Given the description of an element on the screen output the (x, y) to click on. 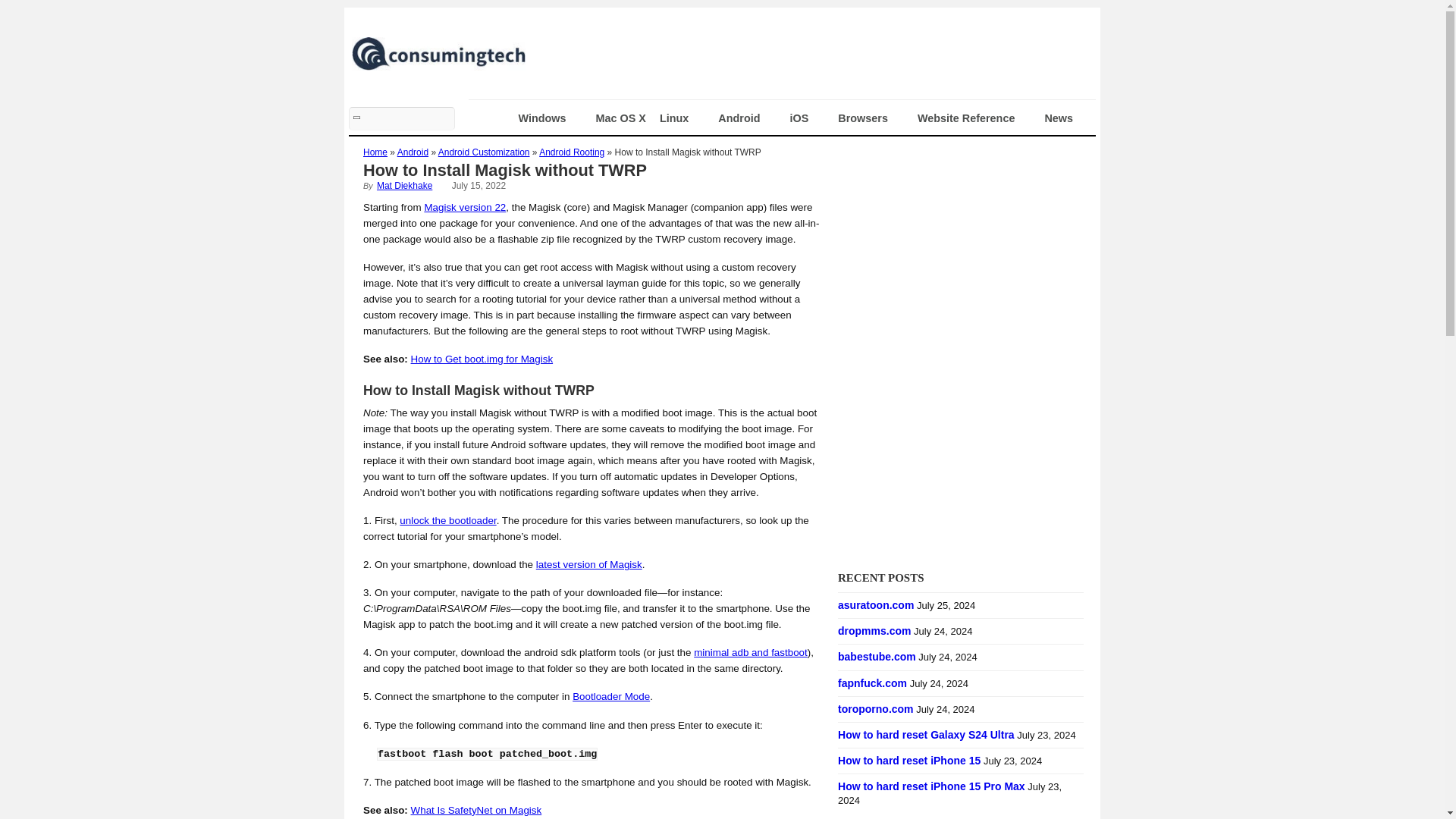
Mat Diekhake (404, 185)
Linux (681, 118)
iOS (807, 118)
How to Get boot.img for Magisk (481, 358)
Advertisement (951, 462)
Mac OS X (620, 118)
unlock the bootloader (447, 520)
Android Customization (483, 152)
Android Rooting (571, 152)
Windows (550, 118)
Android (412, 152)
Consuming Tech (438, 64)
Browsers (870, 118)
Advertisement (811, 53)
Magisk version 22 (464, 206)
